Given the description of an element on the screen output the (x, y) to click on. 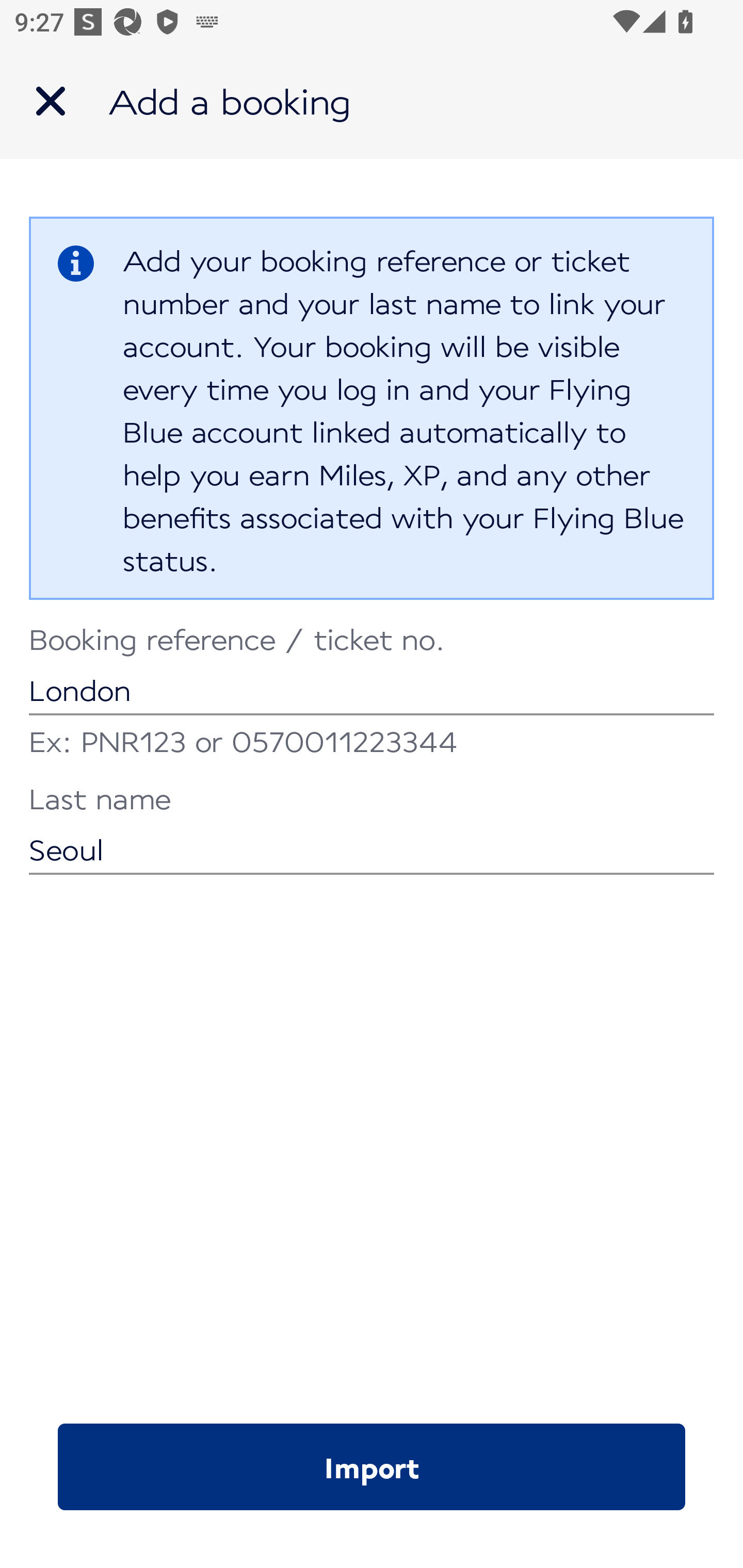
London Ex: PNR123 or 0570011223344 (371, 693)
London (371, 671)
Seoul (371, 831)
Import (371, 1466)
